Given the description of an element on the screen output the (x, y) to click on. 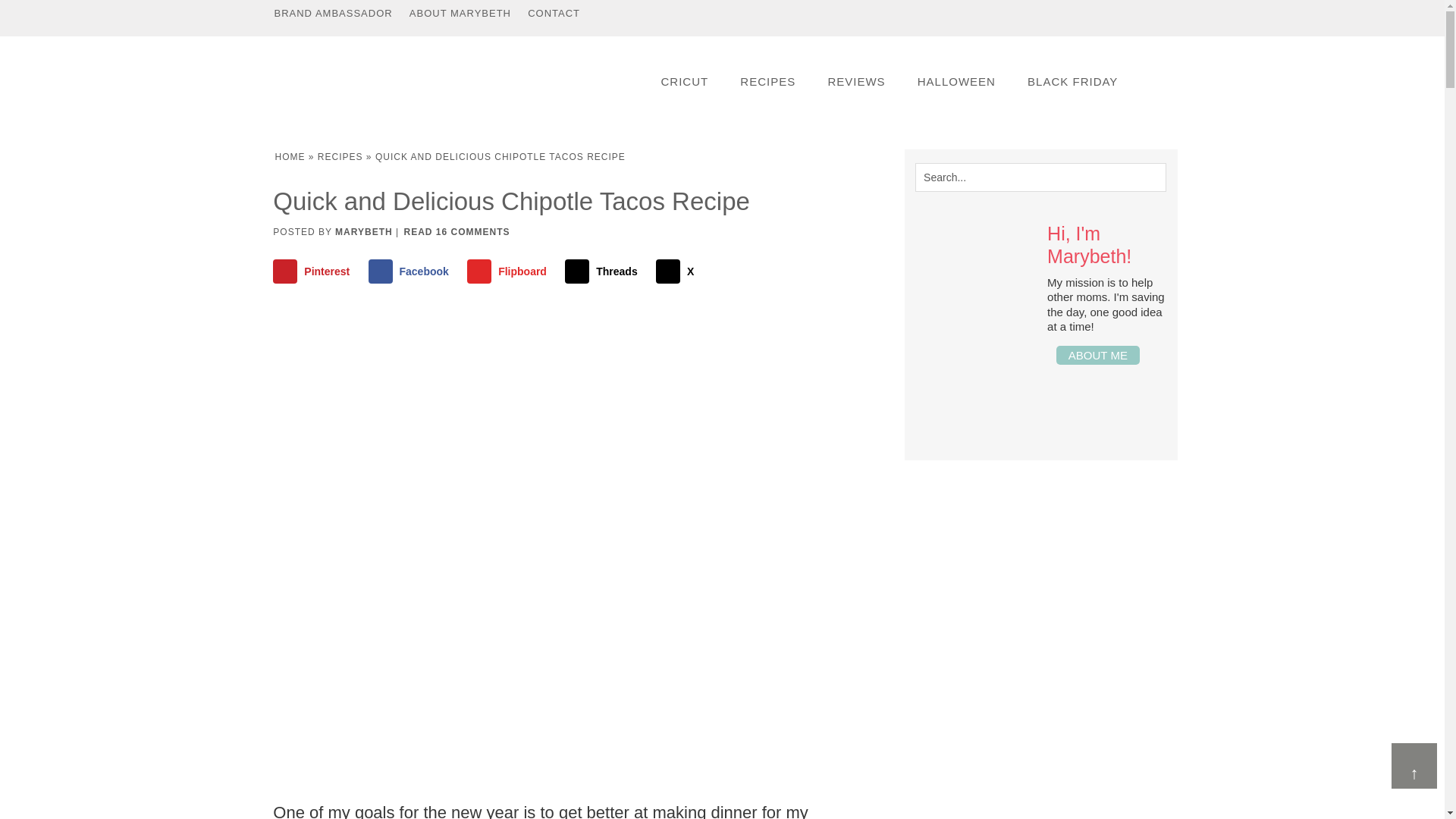
RECIPES (339, 156)
Share on X (678, 271)
Facebook (411, 271)
HOME (289, 156)
CRICUT (684, 81)
MARYBETH (363, 231)
READ 16 COMMENTS (456, 231)
Save to Pinterest (314, 271)
Share on Threads (603, 271)
Share on Flipboard (510, 271)
